Given the description of an element on the screen output the (x, y) to click on. 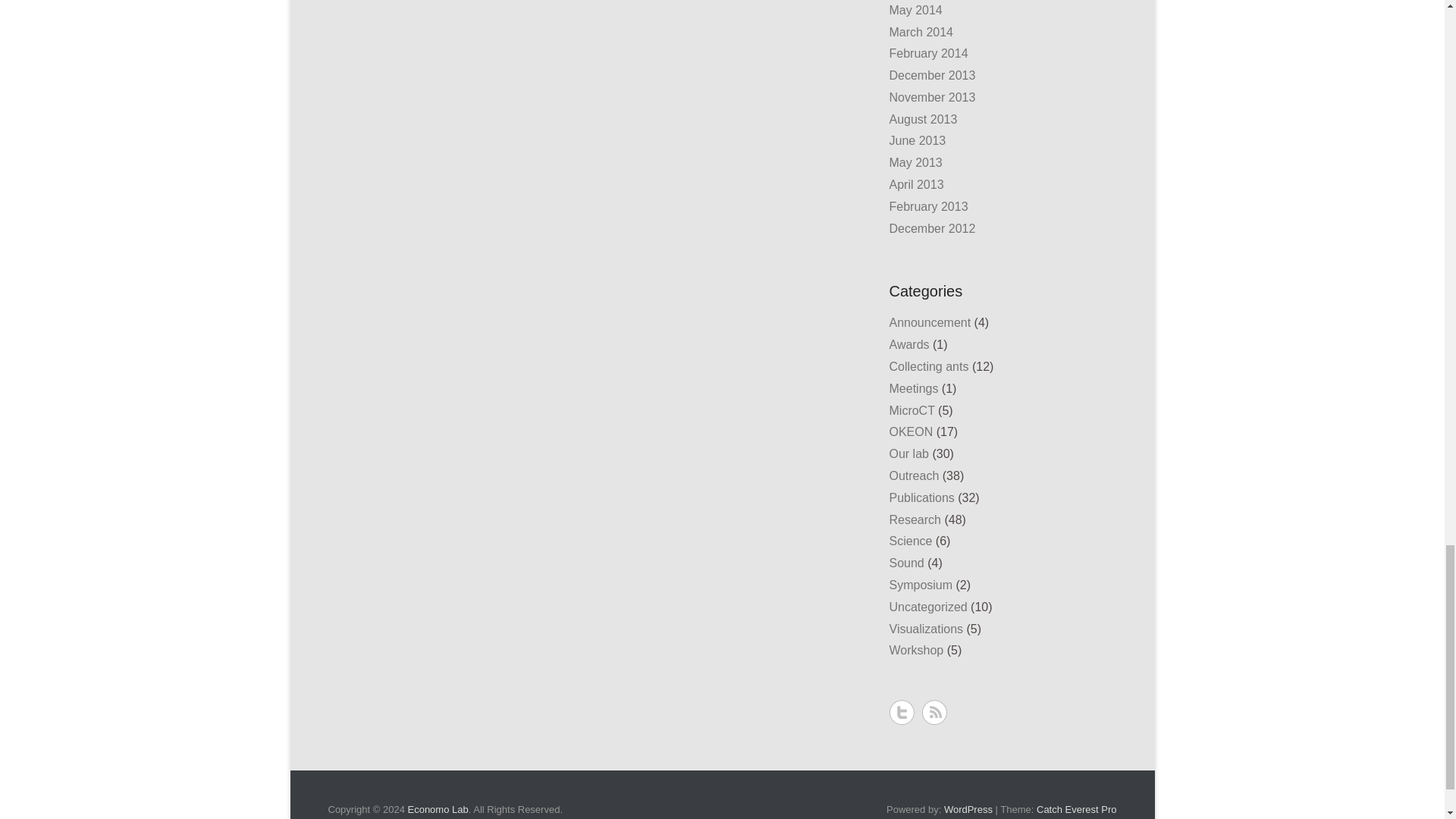
Catch Everest Pro (1076, 808)
WordPress (967, 808)
RSS (934, 712)
Economo Lab (437, 808)
Twitter (901, 712)
